Given the description of an element on the screen output the (x, y) to click on. 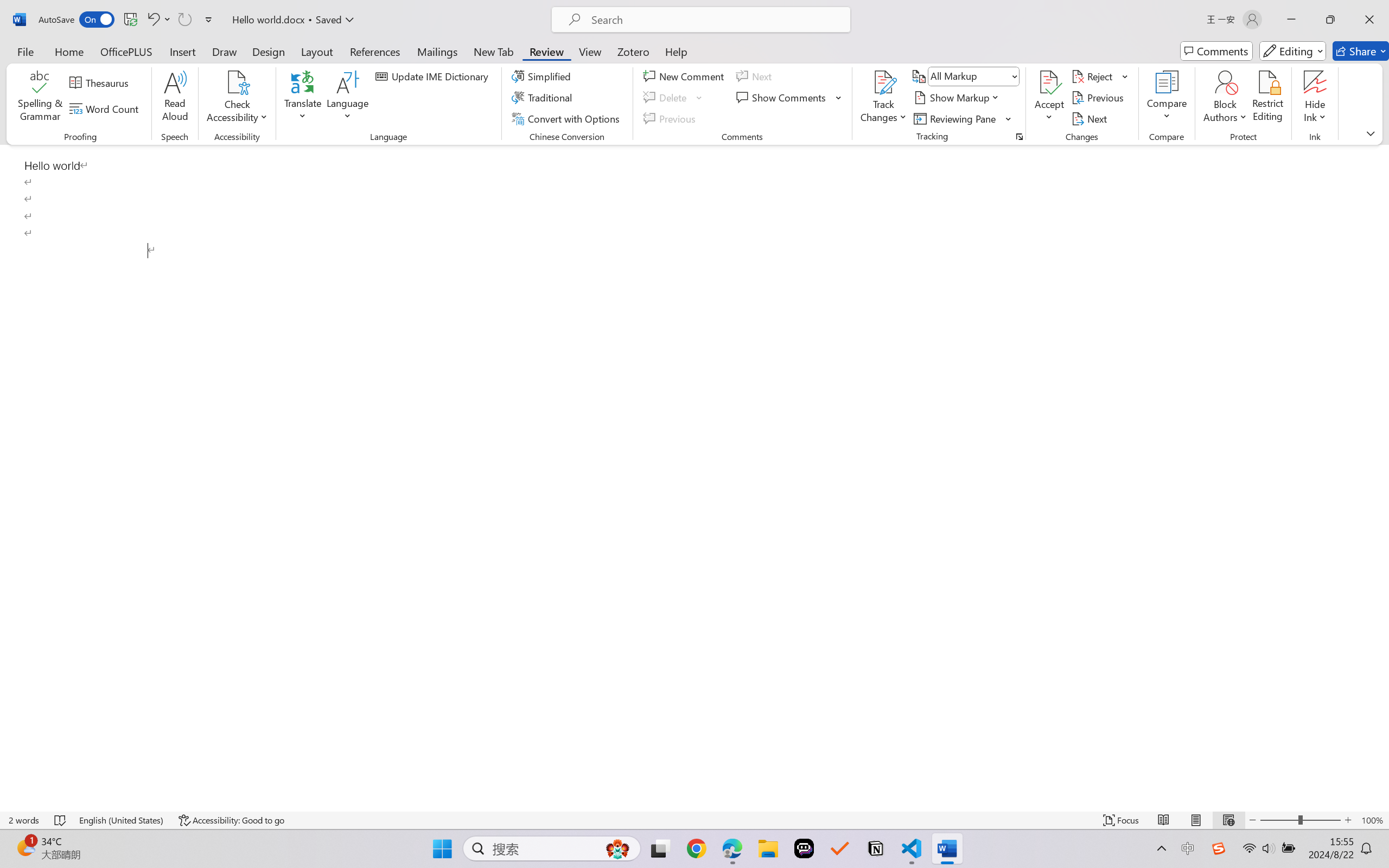
Zoom Out (1278, 819)
Show Comments (782, 97)
Accept (1049, 97)
Reviewing Pane (955, 118)
Class: Image (1218, 847)
Next (1090, 118)
Undo Click and Type Formatting (152, 19)
Layout (316, 51)
Web Layout (1228, 819)
Customize Quick Access Toolbar (208, 19)
Home (69, 51)
Comments (1216, 50)
Hide Ink (1315, 97)
View (589, 51)
